Given the description of an element on the screen output the (x, y) to click on. 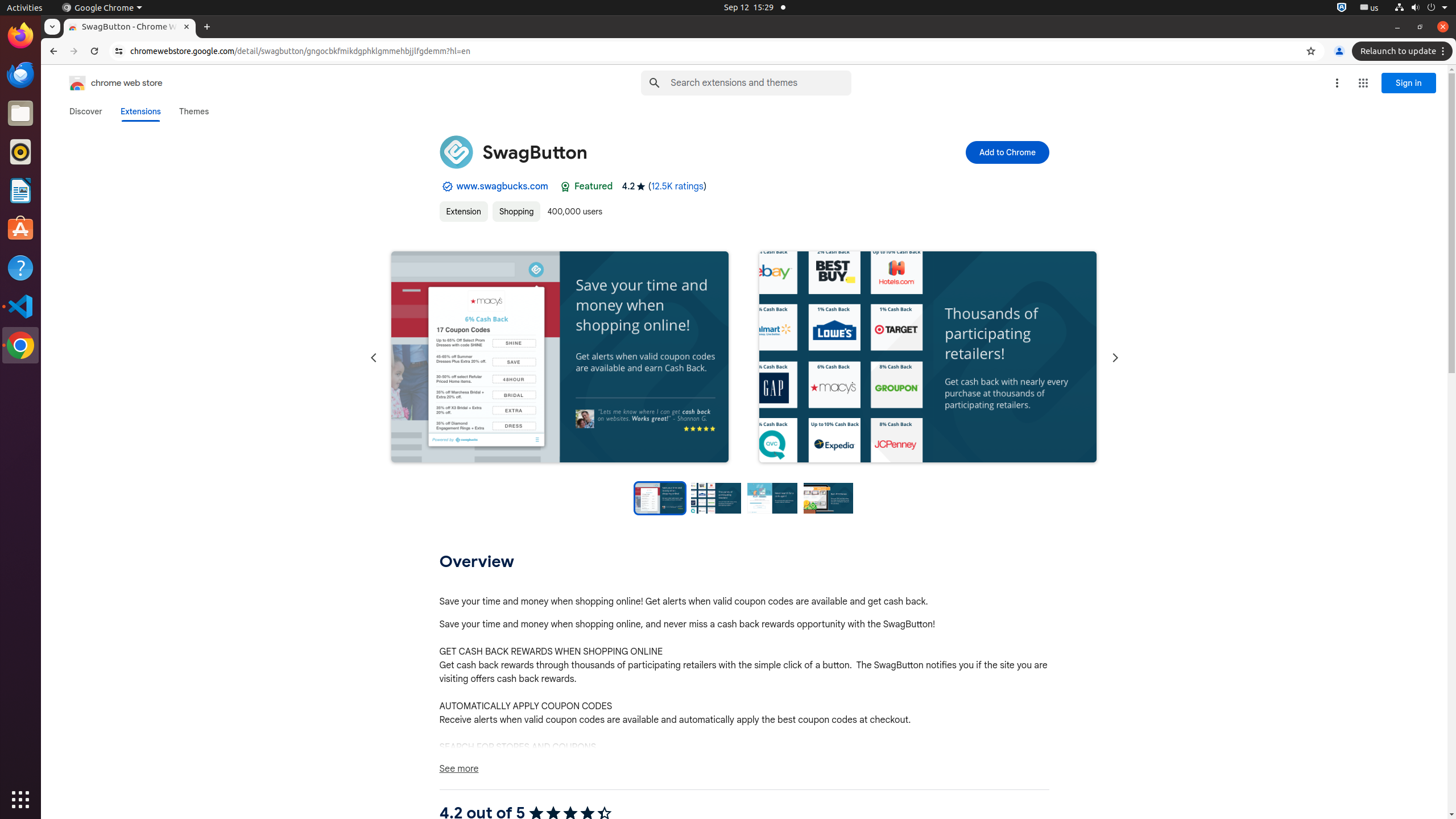
Next slide Element type: push-button (1114, 357)
Back Element type: push-button (51, 50)
System Element type: menu (1420, 7)
Firefox Web Browser Element type: push-button (20, 35)
LibreOffice Writer Element type: push-button (20, 190)
